Given the description of an element on the screen output the (x, y) to click on. 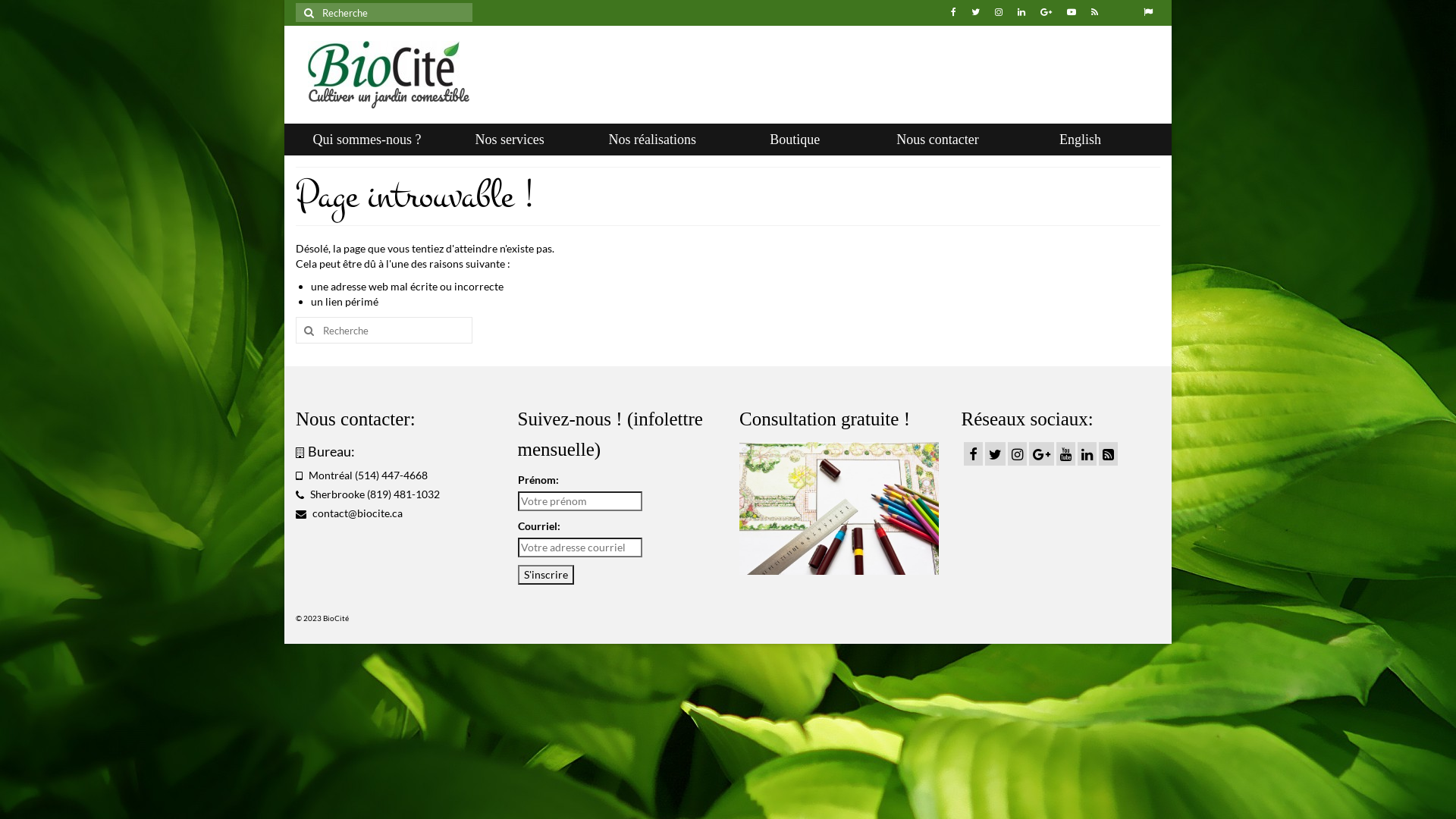
Consultation gratuite ! Element type: text (824, 418)
Nous contacter: Element type: text (355, 418)
English Element type: text (1079, 139)
Nos services Element type: text (509, 139)
contact@biocite.ca Element type: text (348, 512)
Qui sommes-nous ? Element type: text (366, 139)
S'inscrire Element type: text (545, 574)
Boutique Element type: text (794, 139)
Nous contacter Element type: text (937, 139)
